Given the description of an element on the screen output the (x, y) to click on. 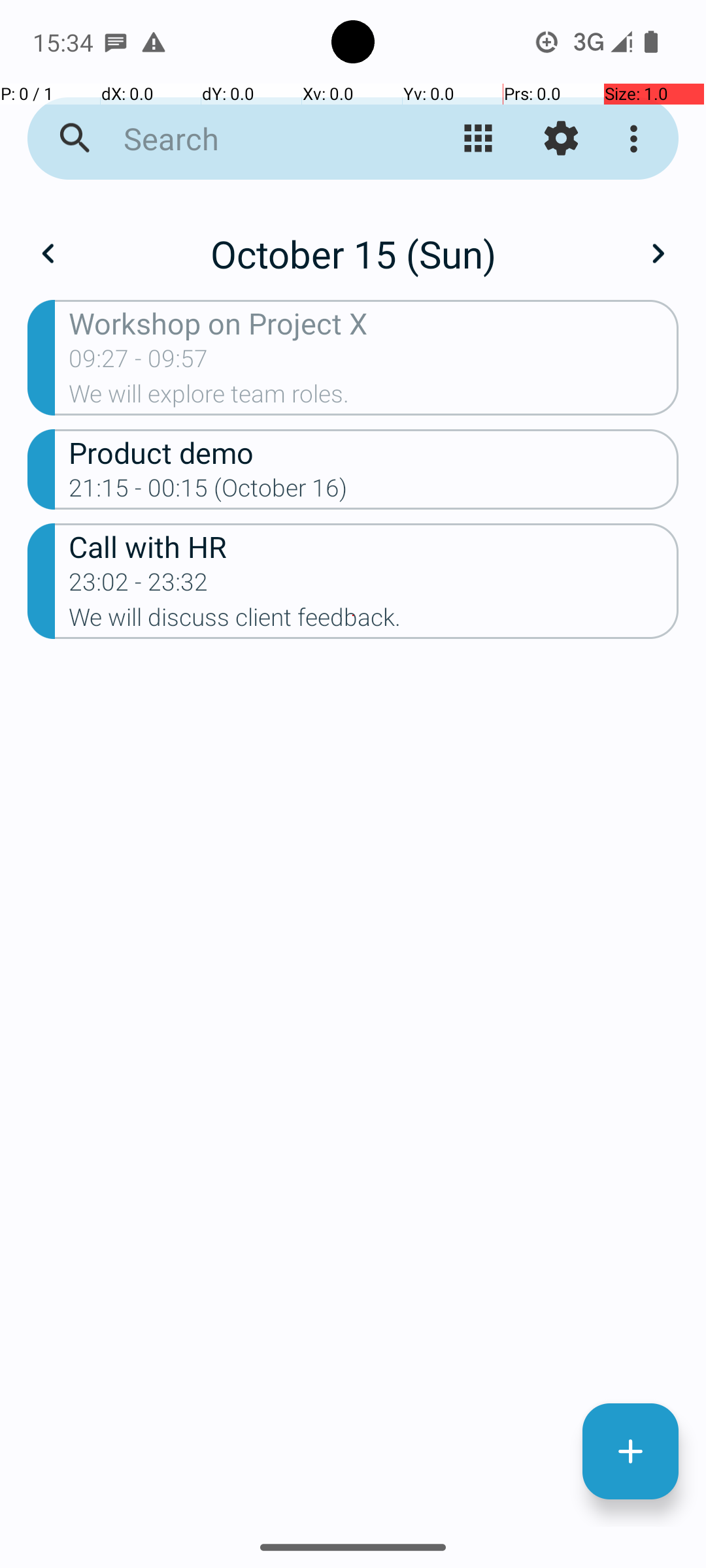
Workshop on Project X Element type: android.widget.TextView (373, 321)
09:27 - 09:57 Element type: android.widget.TextView (137, 362)
We will explore team roles. Element type: android.widget.TextView (373, 397)
Product demo Element type: android.widget.TextView (373, 451)
21:15 - 00:15 (October 16) Element type: android.widget.TextView (207, 491)
Call with HR Element type: android.widget.TextView (373, 545)
23:02 - 23:32 Element type: android.widget.TextView (137, 585)
We will discuss client feedback. Element type: android.widget.TextView (373, 620)
